Given the description of an element on the screen output the (x, y) to click on. 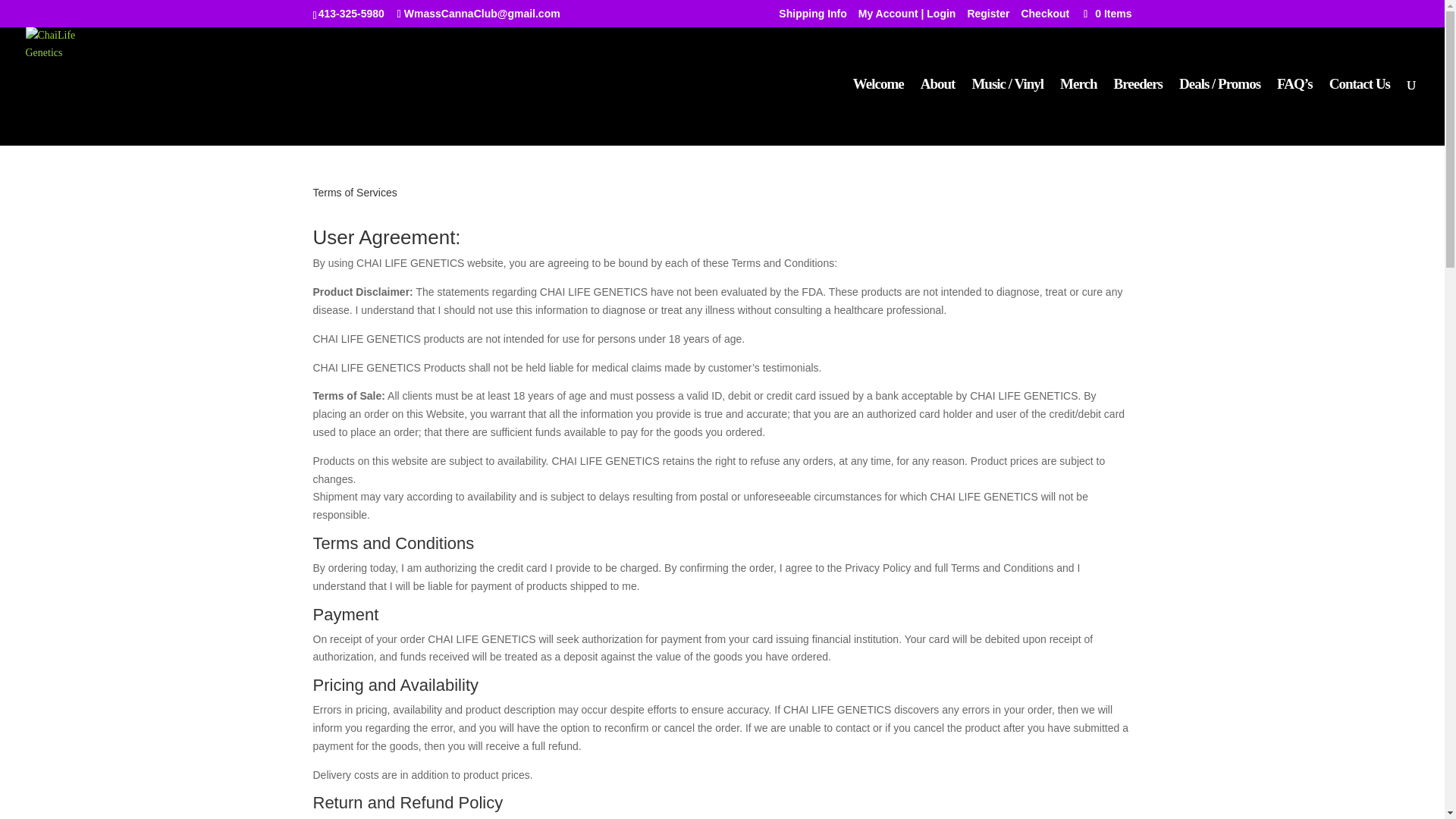
Shipping Info (811, 16)
0 Items (1105, 13)
Contact Us (1359, 111)
Register (987, 16)
Checkout (1044, 16)
